Given the description of an element on the screen output the (x, y) to click on. 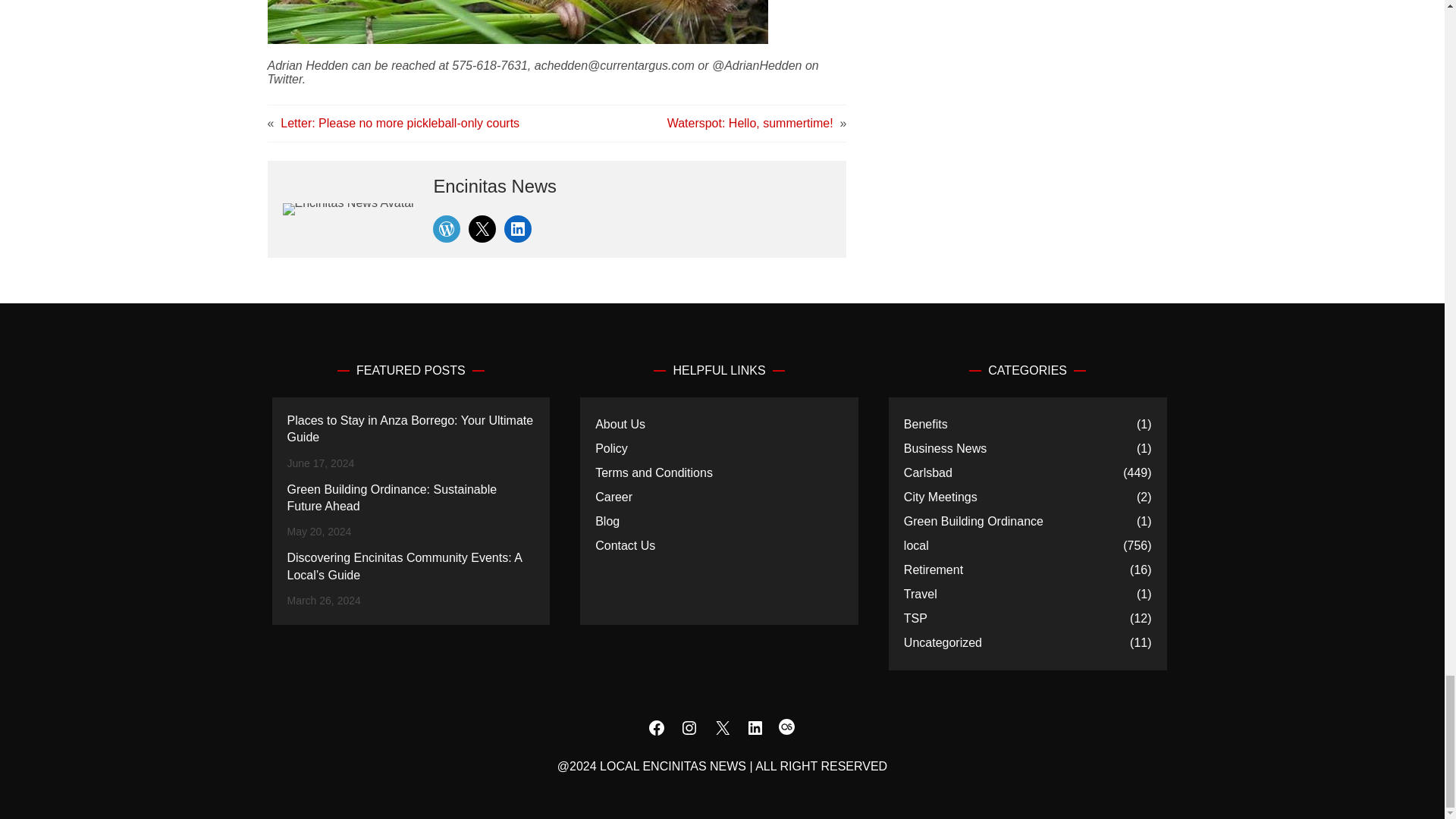
X (482, 228)
Waterspot: Hello, summertime! (749, 123)
WordPress (446, 228)
LinkedIn (517, 228)
Letter: Please no more pickleball-only courts (400, 123)
